Given the description of an element on the screen output the (x, y) to click on. 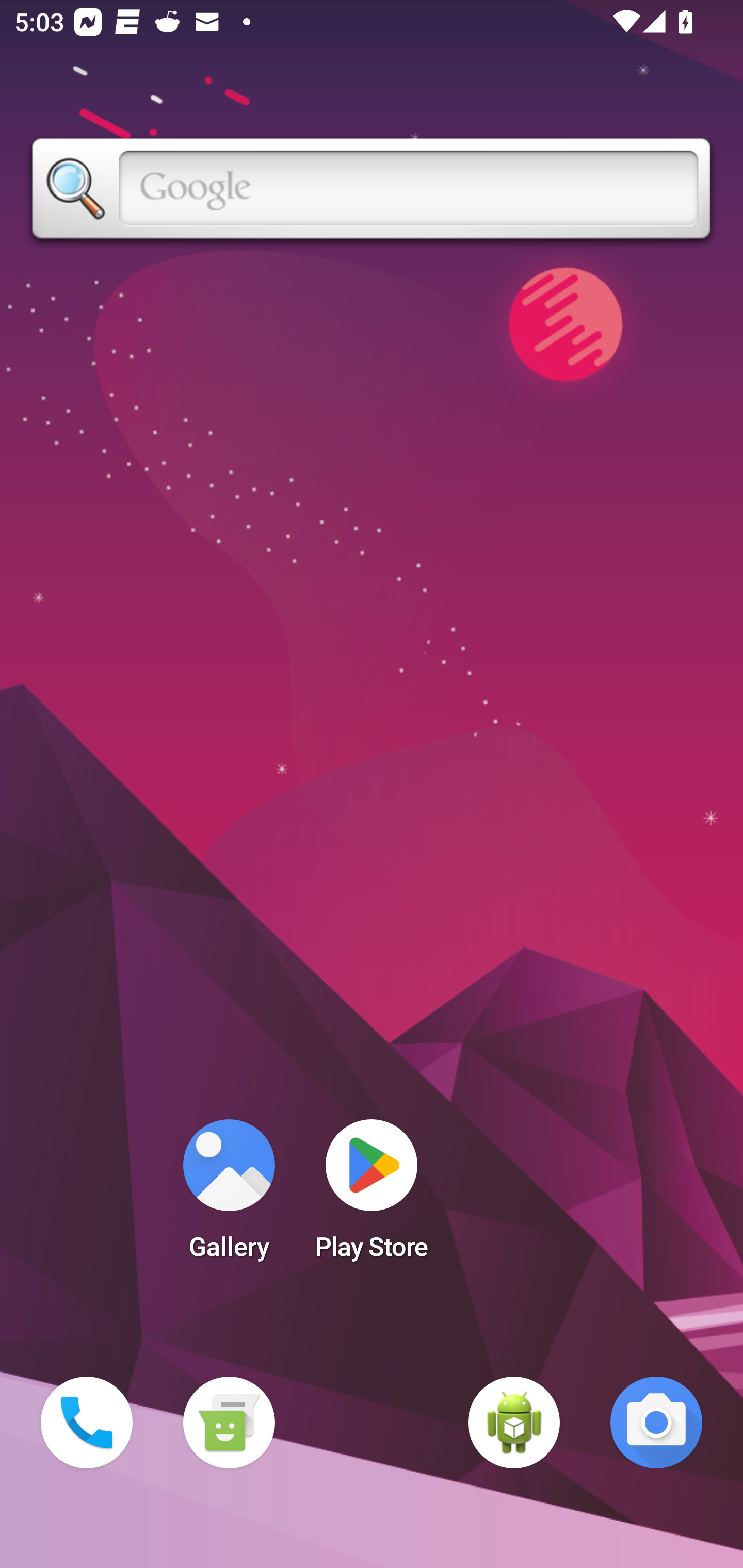
Gallery (228, 1195)
Play Store (371, 1195)
Phone (86, 1422)
Messaging (228, 1422)
WebView Browser Tester (513, 1422)
Camera (656, 1422)
